Given the description of an element on the screen output the (x, y) to click on. 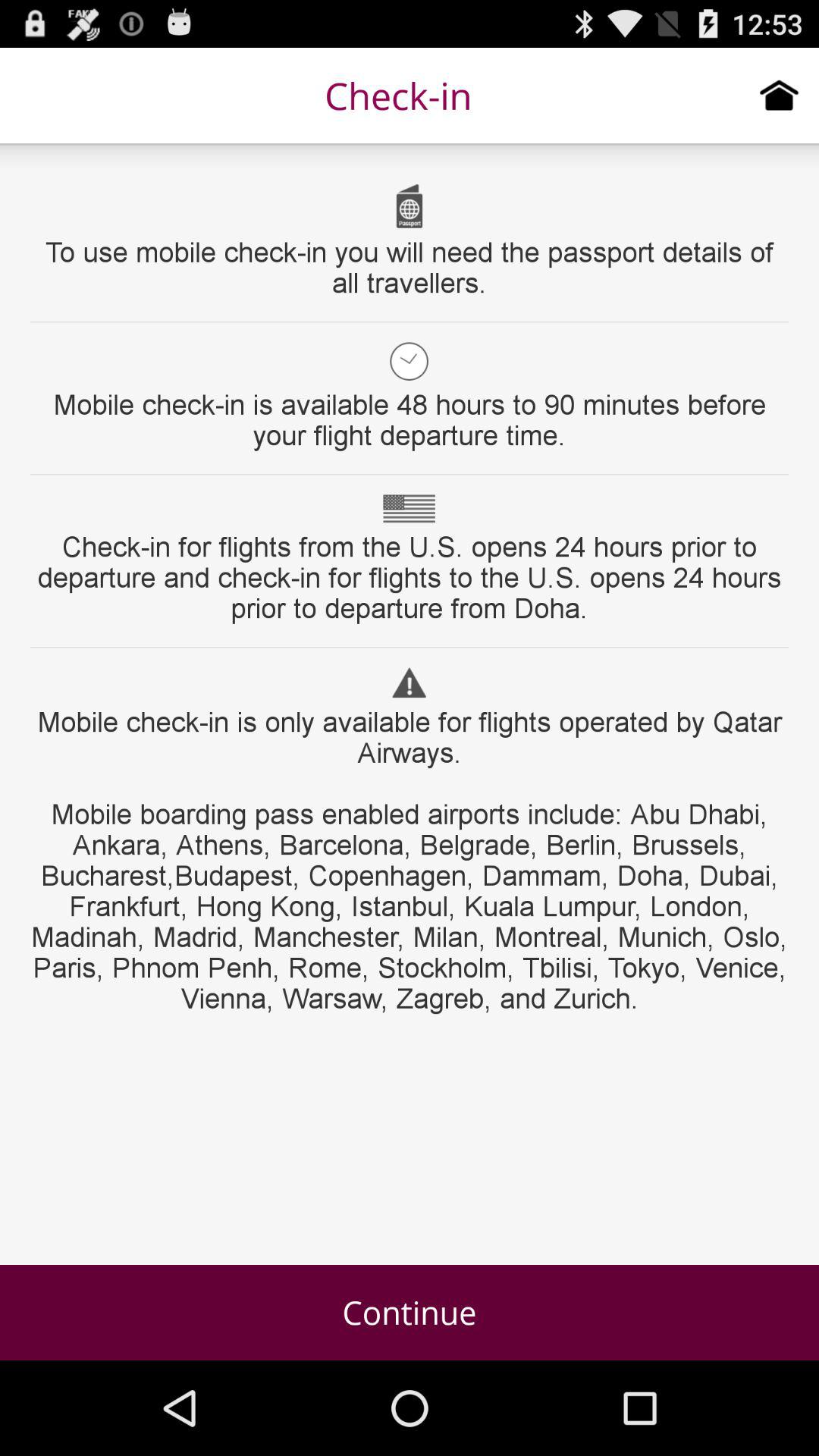
press the icon next to the check-in item (779, 95)
